Given the description of an element on the screen output the (x, y) to click on. 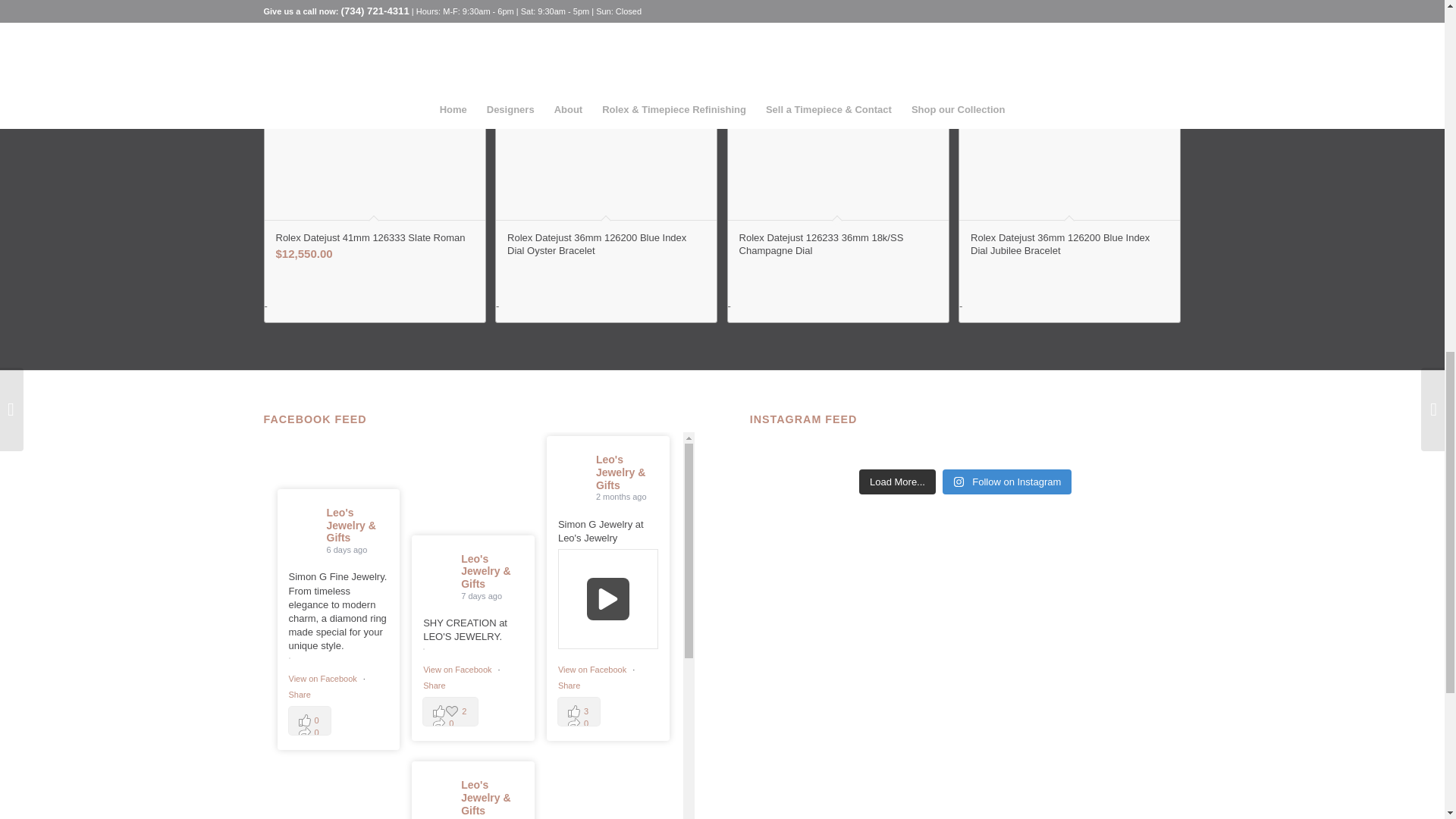
Share (568, 582)
View on Facebook (458, 598)
Share (434, 614)
Share (299, 750)
View on Facebook (323, 735)
View on Facebook (592, 565)
